Given the description of an element on the screen output the (x, y) to click on. 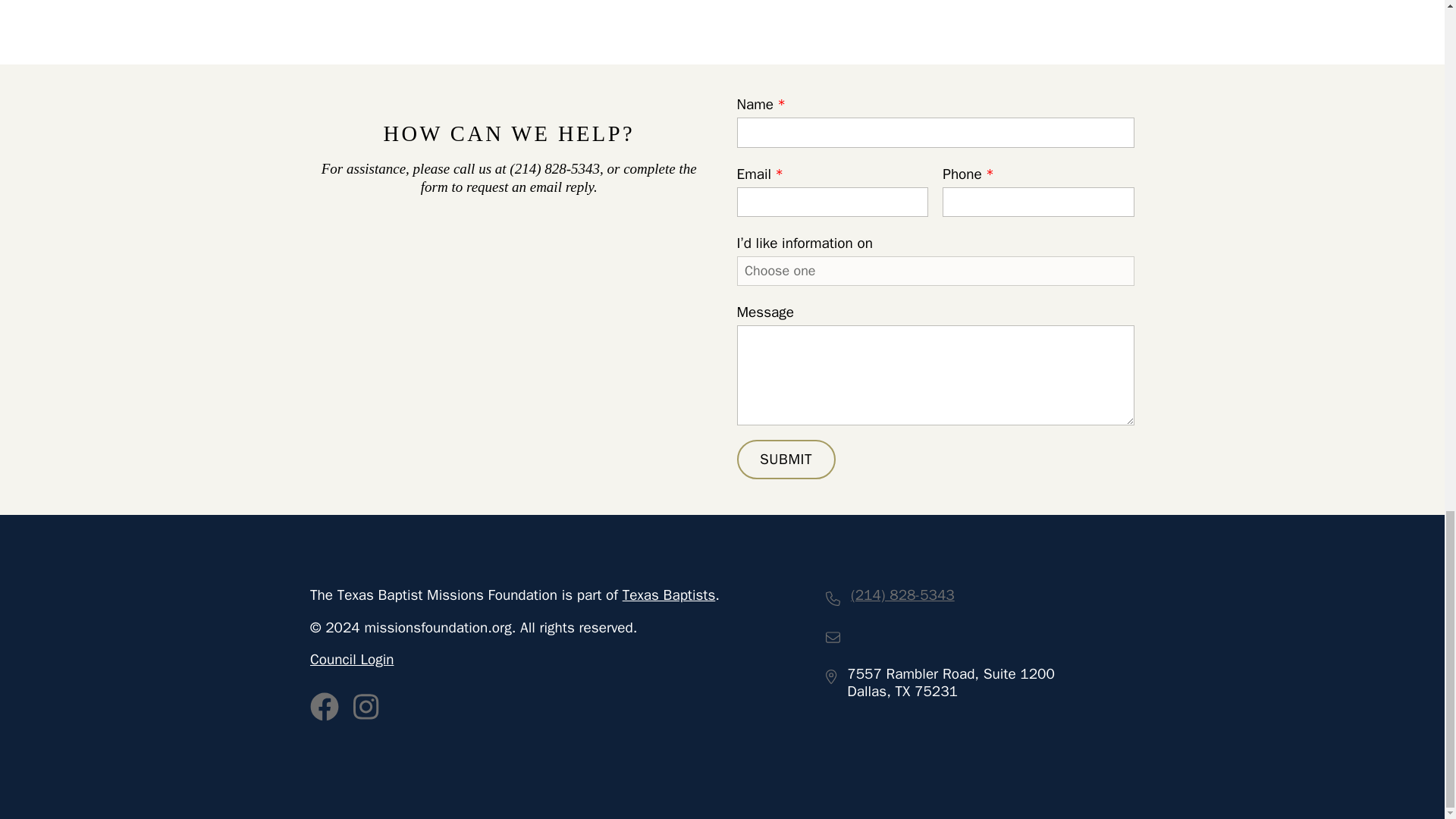
SUBMIT (785, 459)
Council Login (358, 660)
Texas Baptists (669, 595)
